Given the description of an element on the screen output the (x, y) to click on. 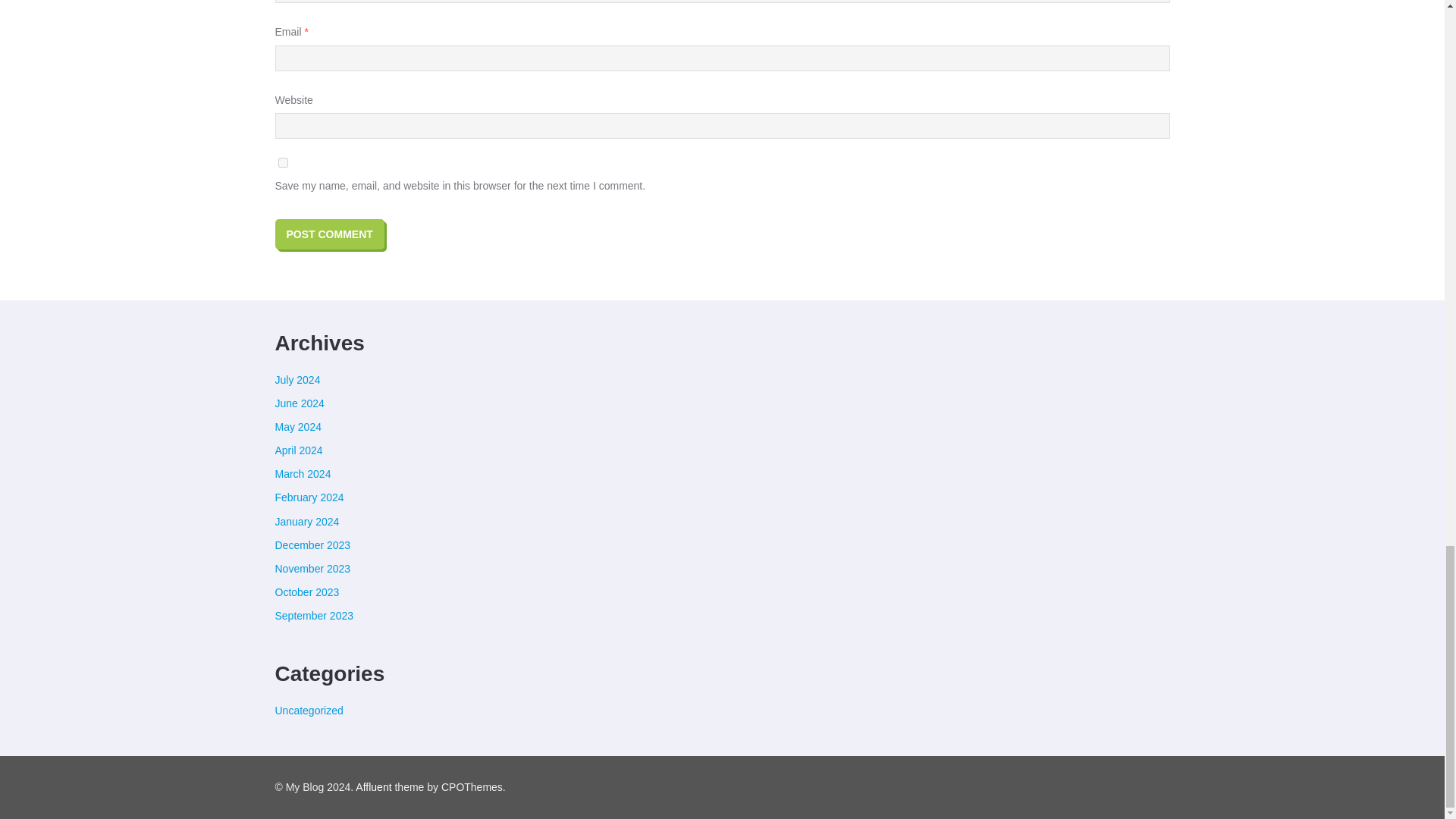
December 2023 (312, 544)
January 2024 (307, 521)
October 2023 (307, 592)
February 2024 (309, 497)
Affluent (373, 787)
June 2024 (299, 403)
yes (282, 162)
September 2023 (314, 615)
April 2024 (298, 450)
March 2024 (302, 473)
Post Comment (329, 234)
Post Comment (329, 234)
November 2023 (312, 568)
Uncategorized (308, 710)
May 2024 (297, 426)
